Given the description of an element on the screen output the (x, y) to click on. 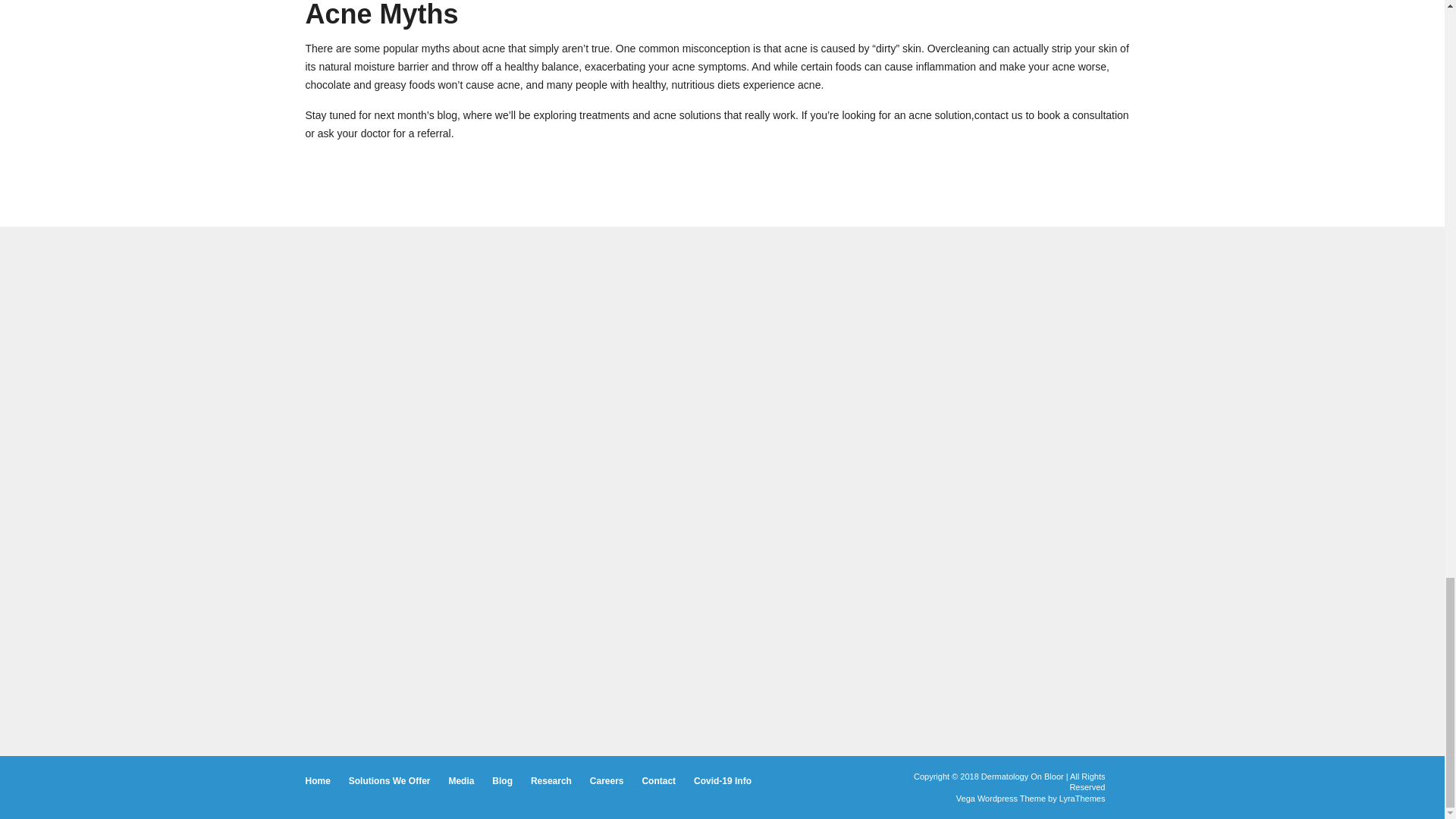
Contact (658, 781)
Sign Up! (685, 636)
Media (461, 781)
Research (551, 781)
Home (317, 781)
Solutions We Offer (389, 781)
Blog (502, 781)
LyraThemes (1082, 798)
Careers (606, 781)
Covid-19 Info (722, 781)
